Given the description of an element on the screen output the (x, y) to click on. 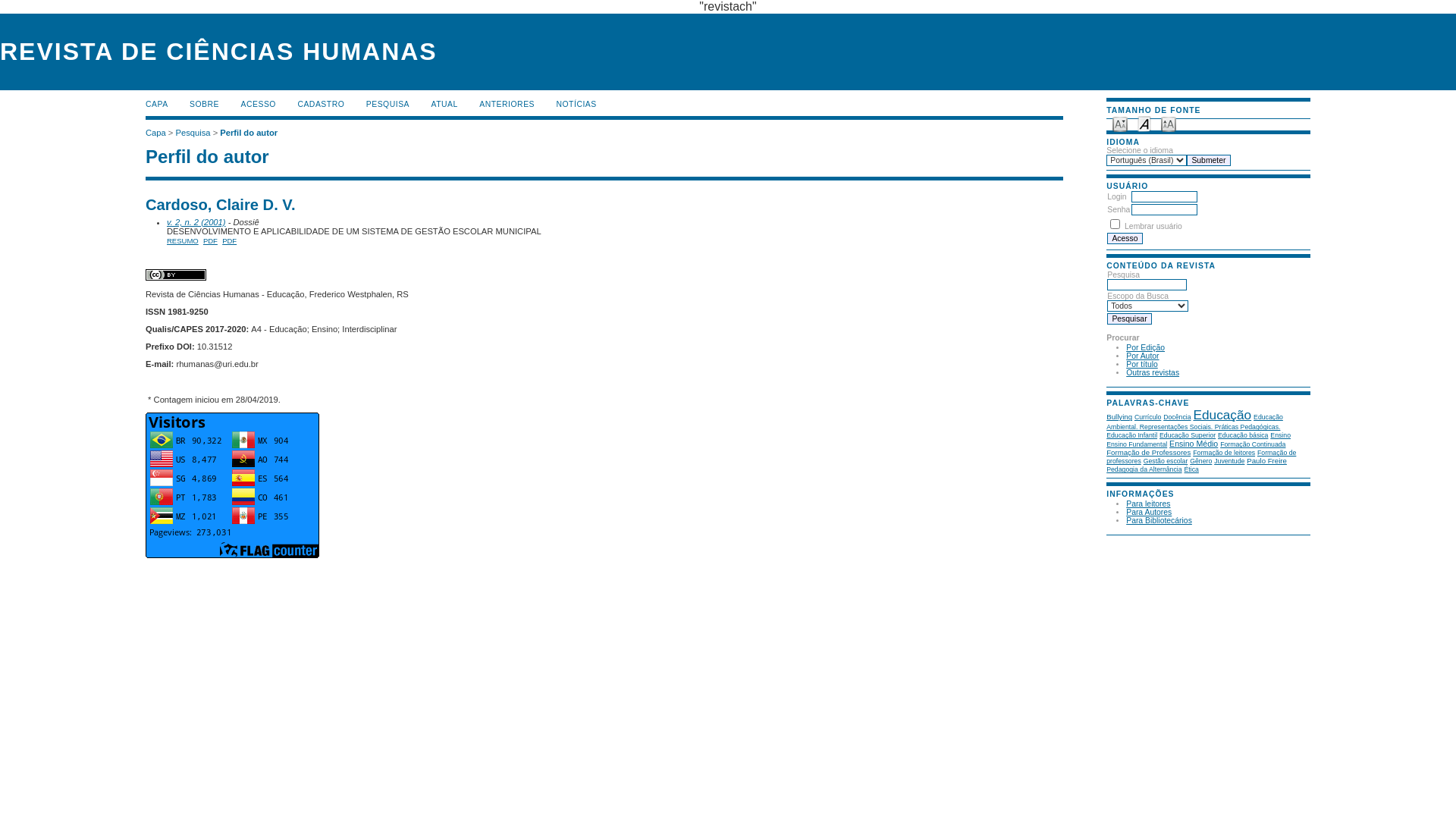
CAPA Element type: text (156, 104)
Outras revistas Element type: text (1152, 372)
PDF Element type: text (229, 240)
PESQUISA Element type: text (387, 104)
Para Autores Element type: text (1148, 512)
Pesquisa Element type: text (192, 132)
Capa Element type: text (155, 132)
Make font size smaller Element type: text (1119, 122)
Submeter Element type: text (1208, 160)
Make font size larger Element type: text (1168, 122)
Juventude Element type: text (1229, 460)
Ensino Element type: text (1280, 434)
RESUMO Element type: text (182, 240)
Acesso Element type: text (1124, 238)
Paulo Freire Element type: text (1266, 460)
ANTERIORES Element type: text (506, 104)
Para leitores Element type: text (1148, 503)
Por Autor Element type: text (1142, 355)
Make font size default Element type: text (1143, 122)
SOBRE Element type: text (204, 104)
v. 2, n. 2 (2001) Element type: text (195, 221)
Ensino Fundamental Element type: text (1136, 443)
CADASTRO Element type: text (320, 104)
Perfil do autor Element type: text (248, 132)
ATUAL Element type: text (443, 104)
Bullying Element type: text (1119, 416)
Pesquisar Element type: text (1129, 318)
PDF Element type: text (210, 240)
ACESSO Element type: text (258, 104)
